Given the description of an element on the screen output the (x, y) to click on. 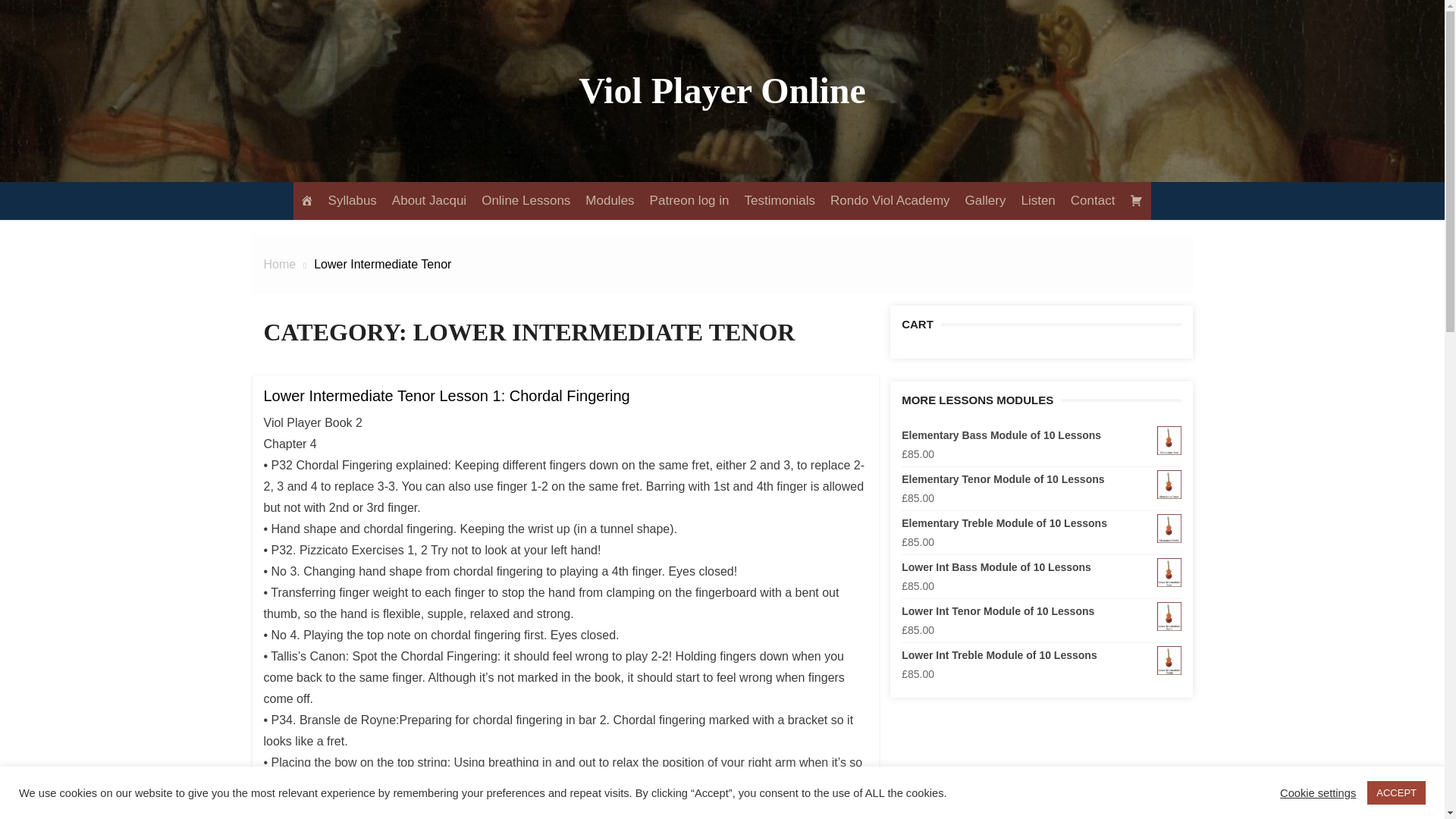
Viol Player Online (722, 90)
Contact (1093, 200)
Modules (609, 200)
About Jacqui (429, 200)
Patreon log in (689, 200)
Rondo Viol Academy (890, 200)
Lower Intermediate Tenor Lesson 1: Chordal Fingering (446, 395)
Syllabus (352, 200)
Elementary Treble Module of 10 Lessons (1040, 523)
Listen (1037, 200)
Testimonials (780, 200)
Lower Int Tenor Module of 10 Lessons (1040, 610)
Gallery (985, 200)
Elementary Bass Module of 10 Lessons (1040, 435)
Lower Int Bass Module of 10 Lessons (1040, 567)
